Given the description of an element on the screen output the (x, y) to click on. 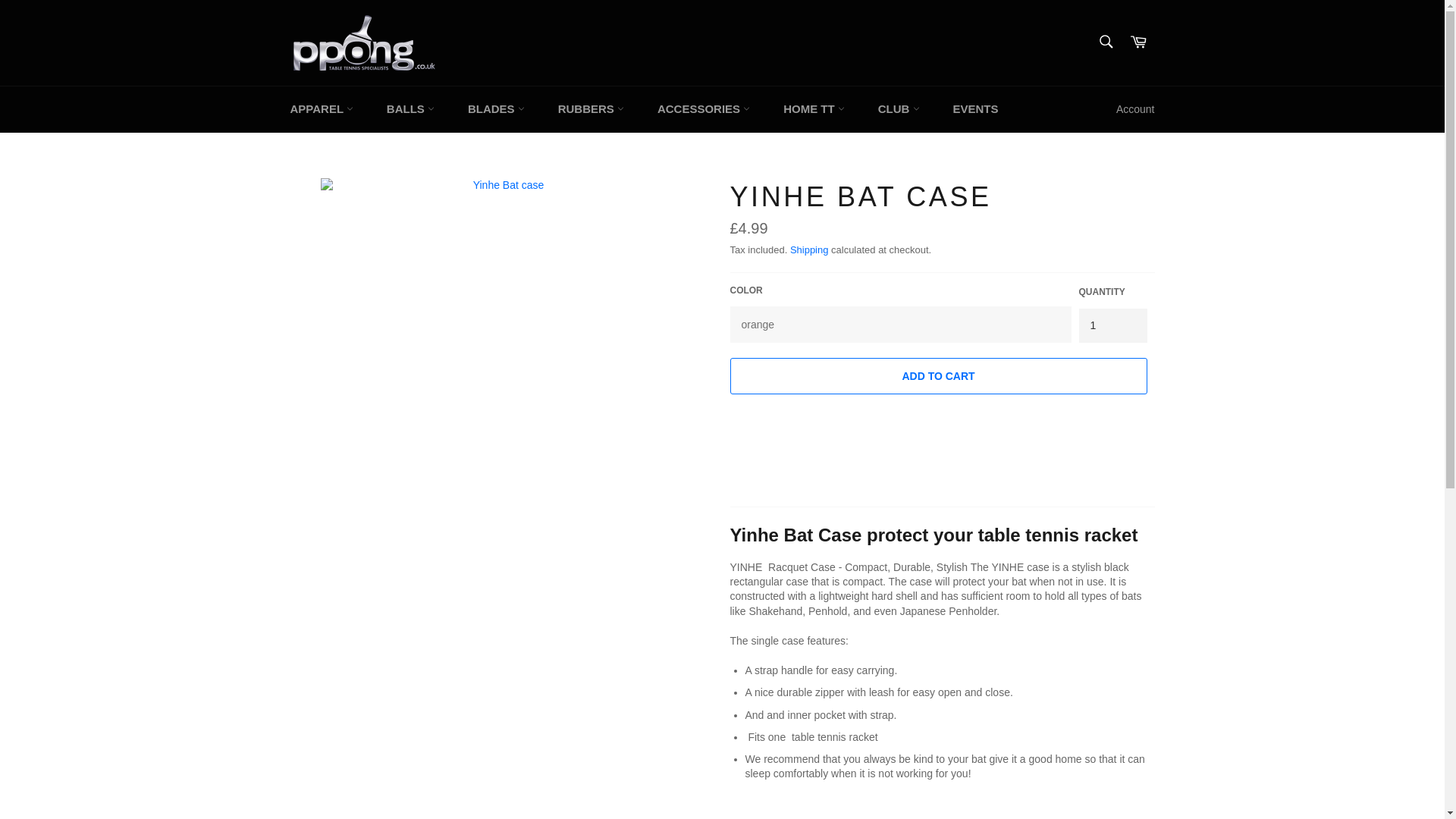
1 (1112, 325)
Search (1104, 41)
Cart (1138, 42)
